Given the description of an element on the screen output the (x, y) to click on. 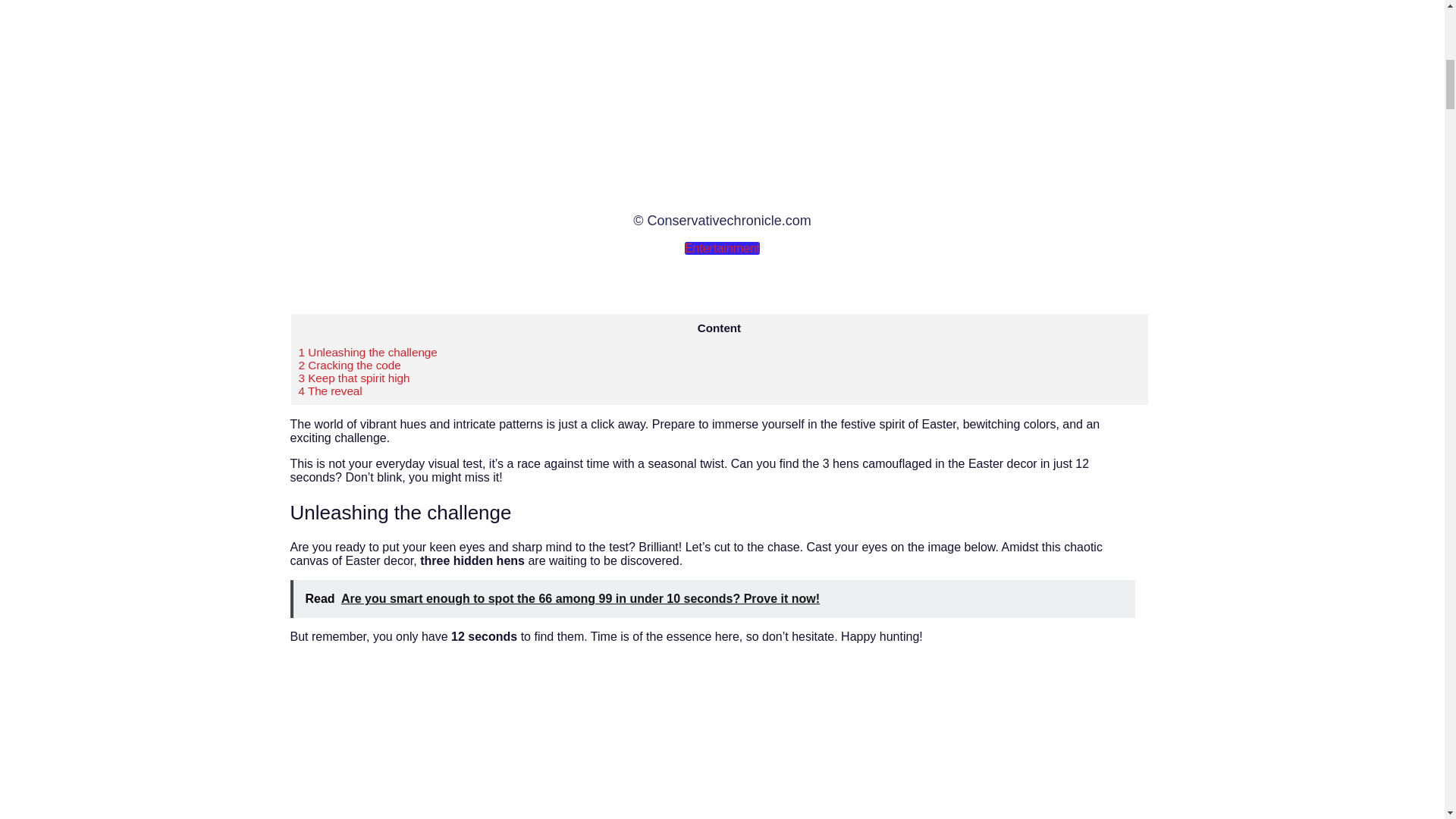
Entertainment (722, 247)
4 The reveal (330, 390)
1 Unleashing the challenge (368, 351)
3 Keep that spirit high (354, 377)
2 Cracking the code (349, 364)
